Given the description of an element on the screen output the (x, y) to click on. 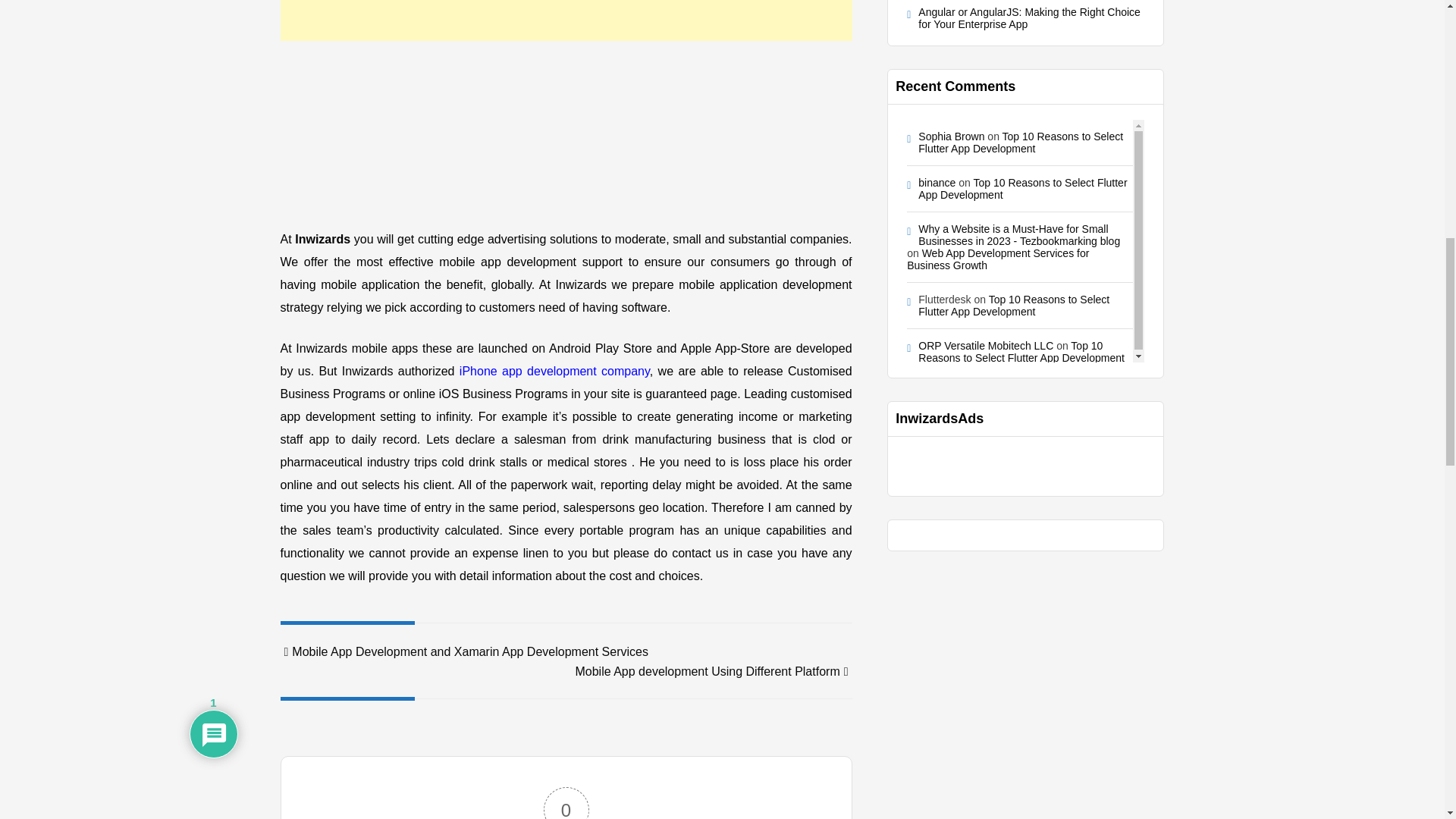
Mobile App Development and Xamarin App Development Services (464, 651)
Advertisement (566, 130)
Mobile App development Using Different Platform (713, 671)
iPhone app development company (554, 370)
